Given the description of an element on the screen output the (x, y) to click on. 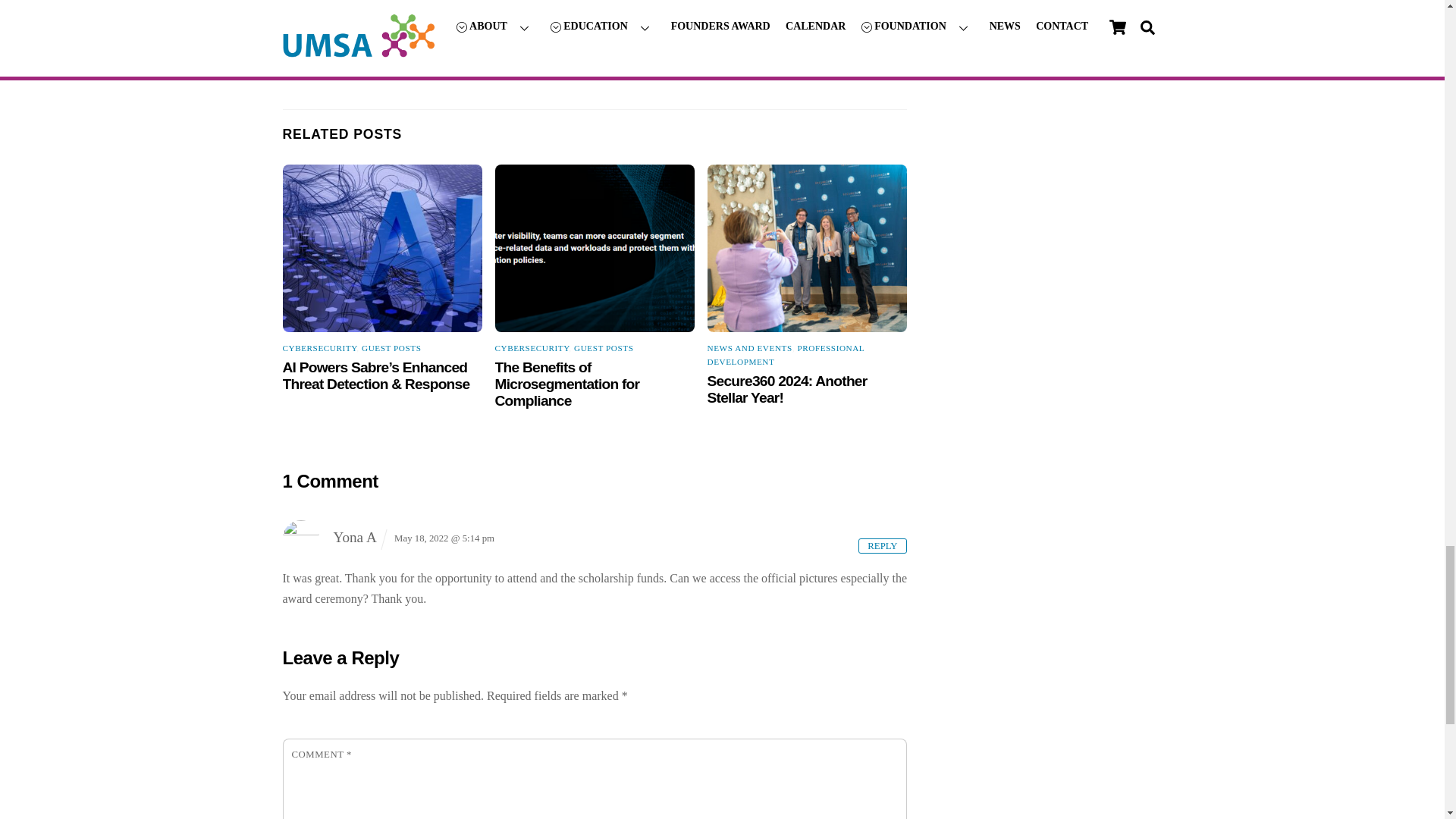
2024 Secure 360 UMSA (807, 248)
Ai (381, 248)
Akamai blog (595, 248)
